Given the description of an element on the screen output the (x, y) to click on. 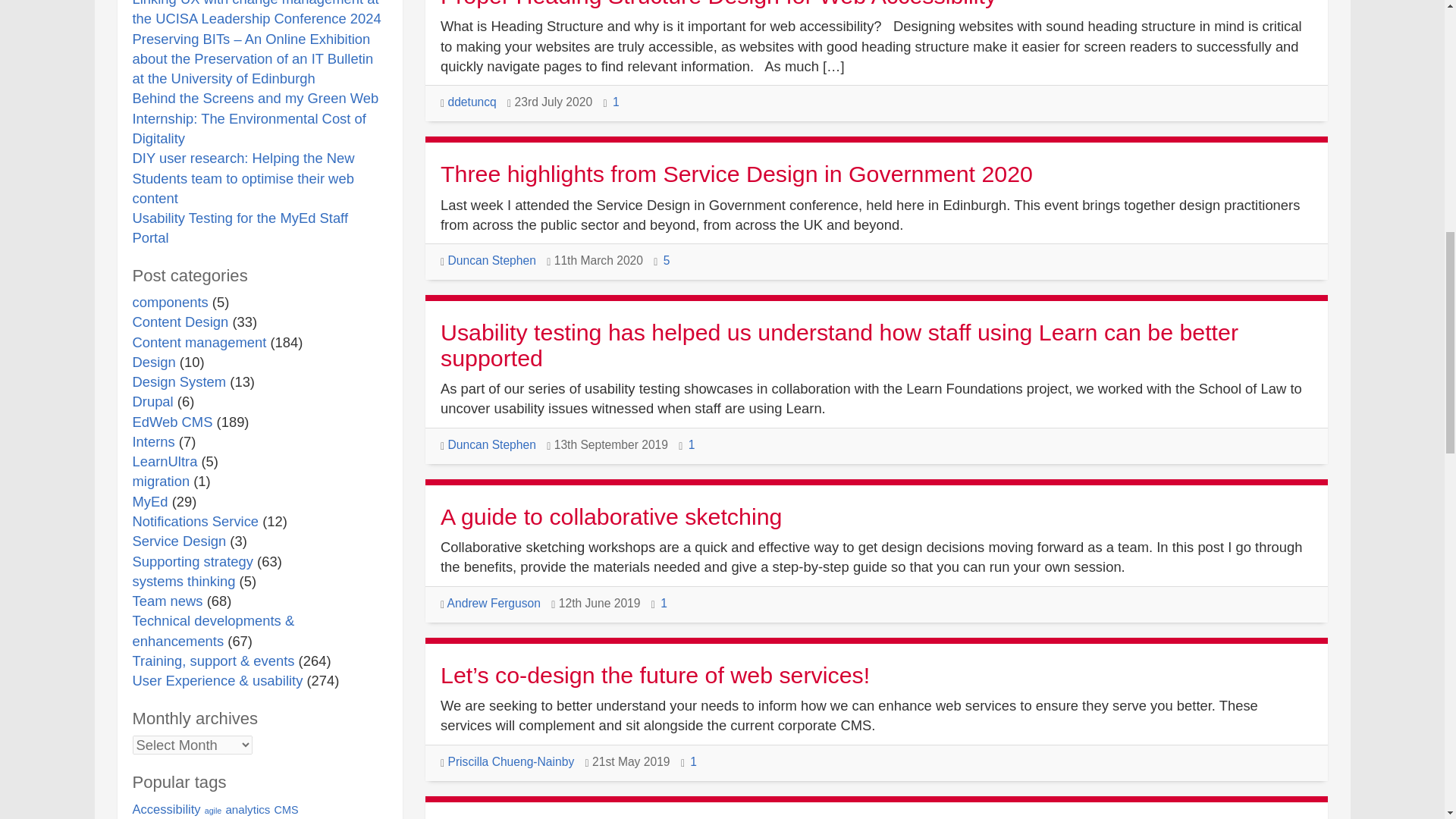
MyEd (149, 501)
analytics (247, 809)
Design System (178, 381)
Notifications Service (195, 521)
Posts by Duncan Stephen (490, 259)
CMS (286, 809)
EdWeb CMS (172, 421)
LearnUltra (164, 461)
